Given the description of an element on the screen output the (x, y) to click on. 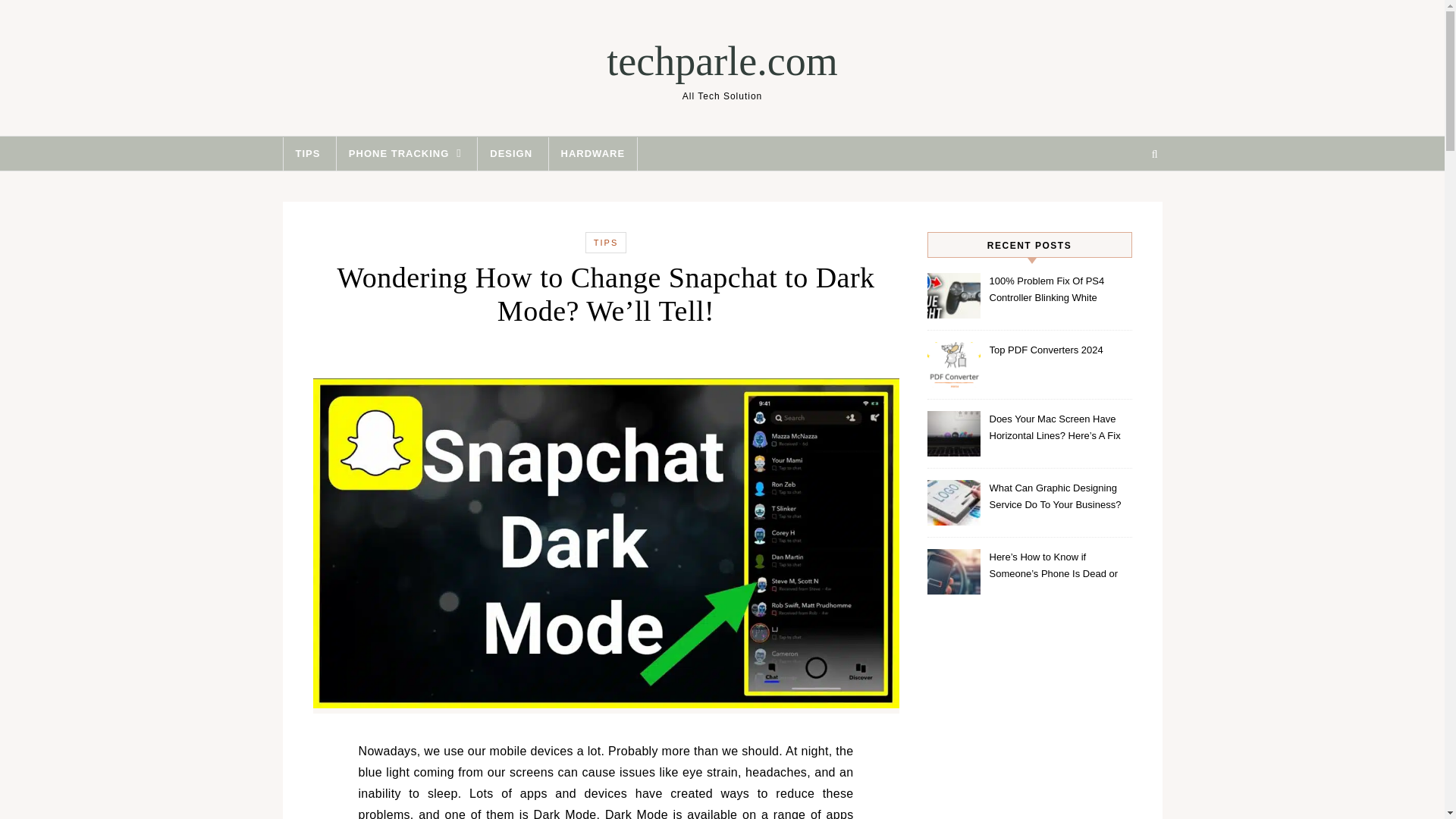
techparle.com (721, 61)
What Can Graphic Designing Service Do To Your Business? (1058, 497)
PHONE TRACKING (405, 153)
Top PDF Converters 2024 (1058, 359)
TIPS (306, 153)
TIPS (605, 242)
HARDWARE (593, 153)
DESIGN (510, 153)
